Given the description of an element on the screen output the (x, y) to click on. 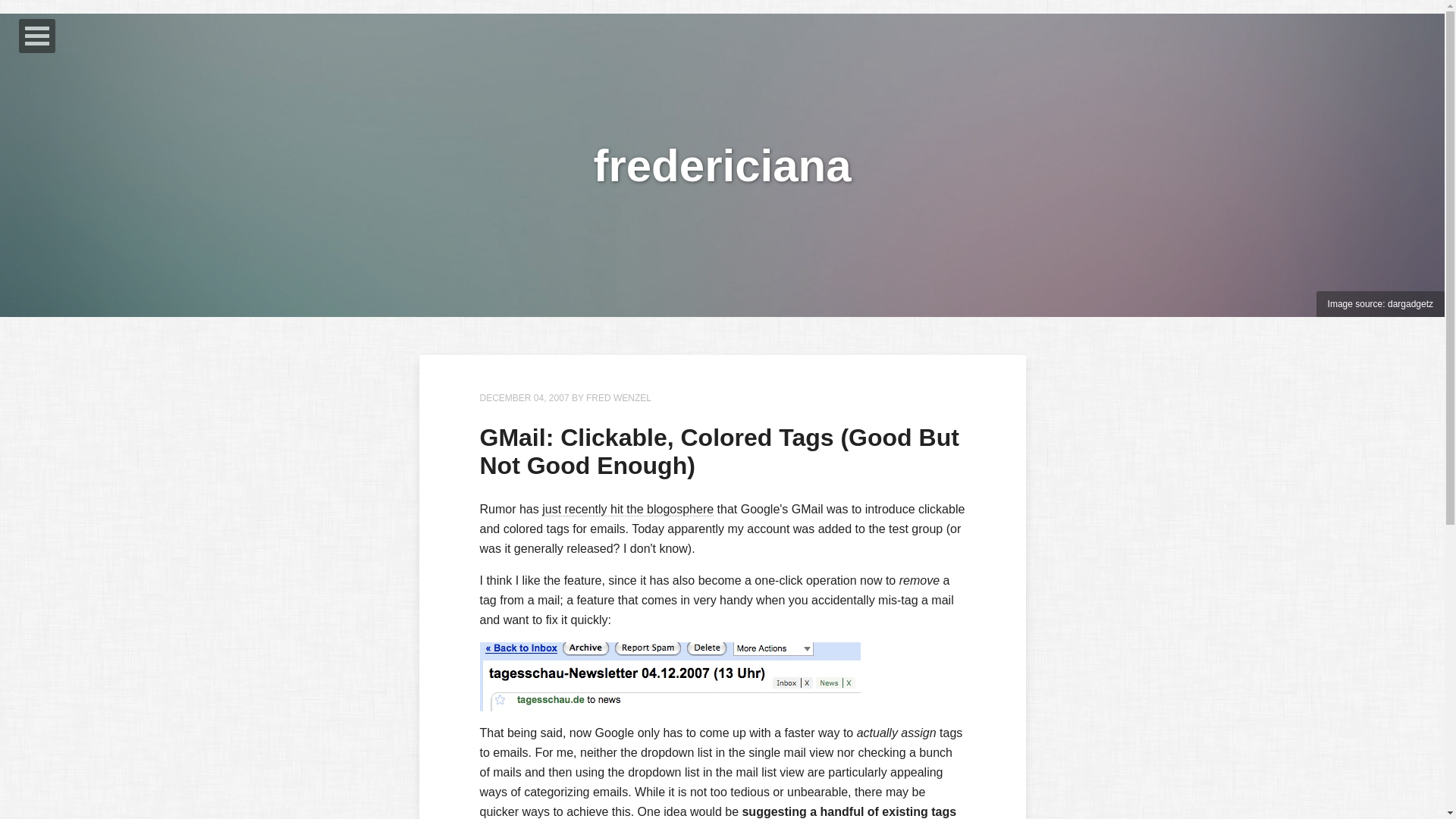
DECEMBER 04, 2007 (524, 398)
dargadgetz (1409, 303)
fredericiana (721, 164)
just recently hit the blogosphere (627, 509)
Open Menu (36, 35)
About Fred Wenzel (618, 398)
FRED WENZEL (618, 398)
